Given the description of an element on the screen output the (x, y) to click on. 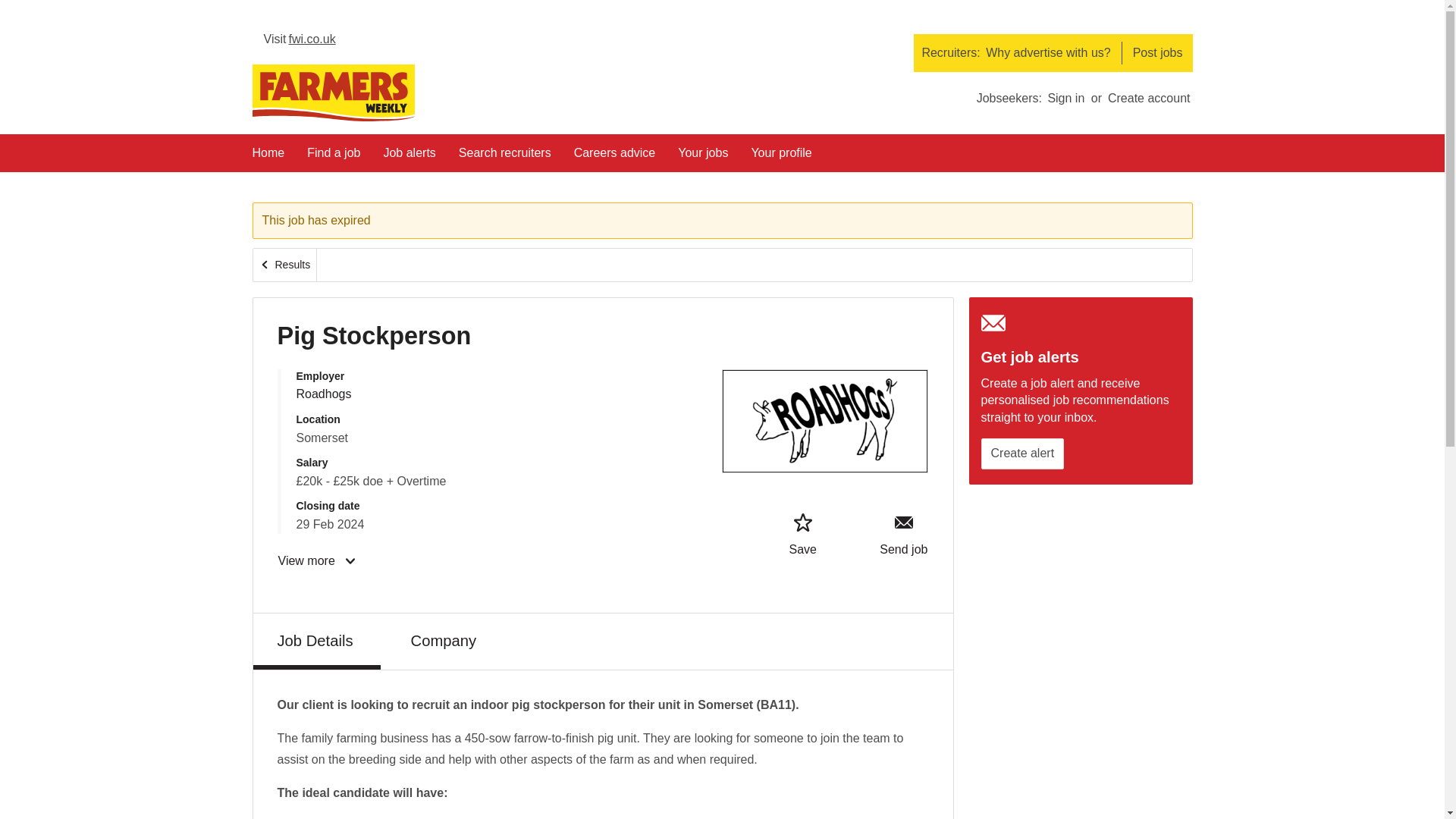
Search recruiters (504, 157)
Results (285, 264)
Why advertise with us? (1048, 52)
Sign in (1065, 97)
Find a job (333, 157)
Home (267, 157)
Your jobs (703, 157)
View more (318, 560)
Post jobs (1158, 52)
Job alerts (408, 157)
Create account (1148, 97)
Your profile (780, 157)
Roadhogs (322, 393)
Careers advice (614, 157)
fwi.co.uk (299, 43)
